Given the description of an element on the screen output the (x, y) to click on. 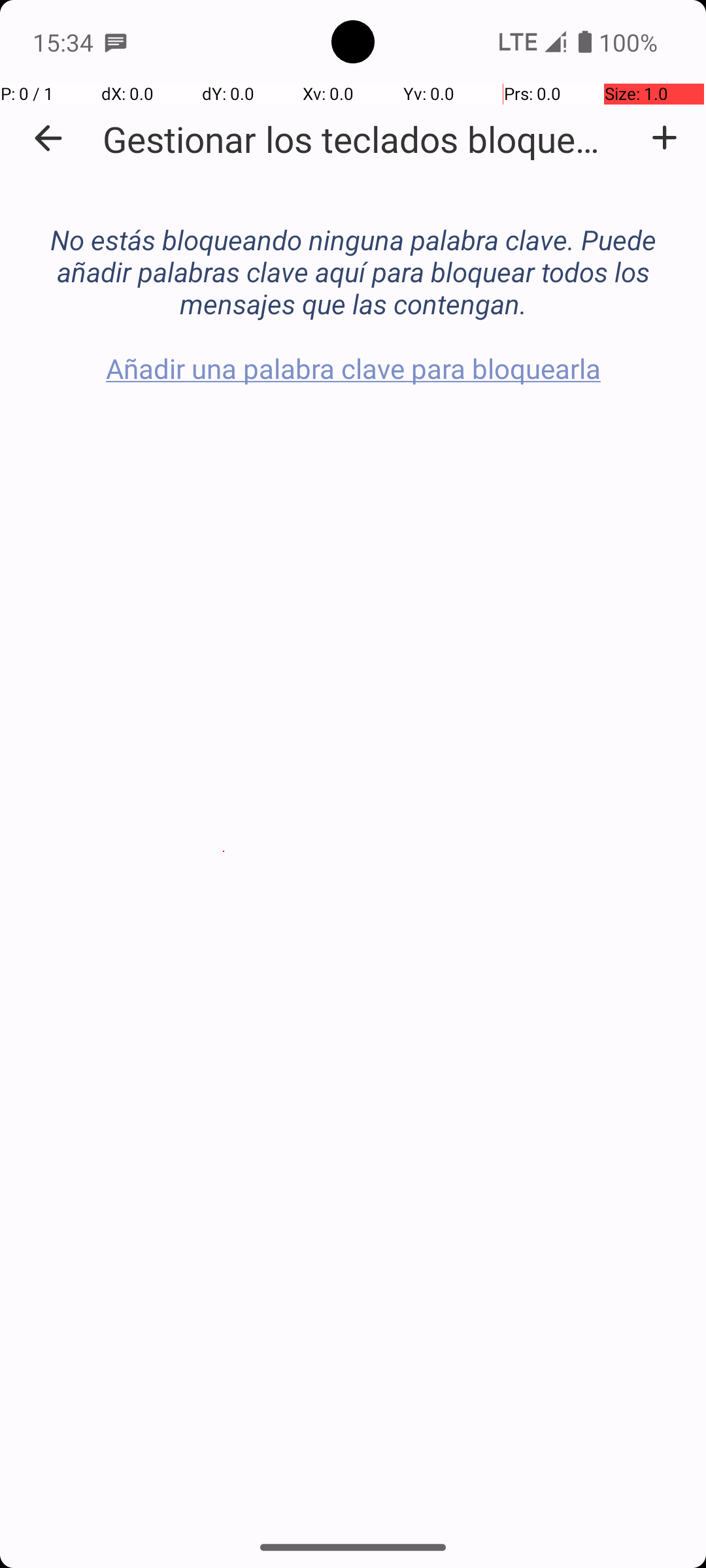
Gestionar los teclados bloqueados Element type: android.widget.TextView (359, 138)
Añadir una palabra clave para bloquearla Element type: android.widget.Button (664, 137)
No estás bloqueando ninguna palabra clave. Puede añadir palabras clave aquí para bloquear todos los mensajes que las contengan. Element type: android.widget.TextView (353, 257)
